Given the description of an element on the screen output the (x, y) to click on. 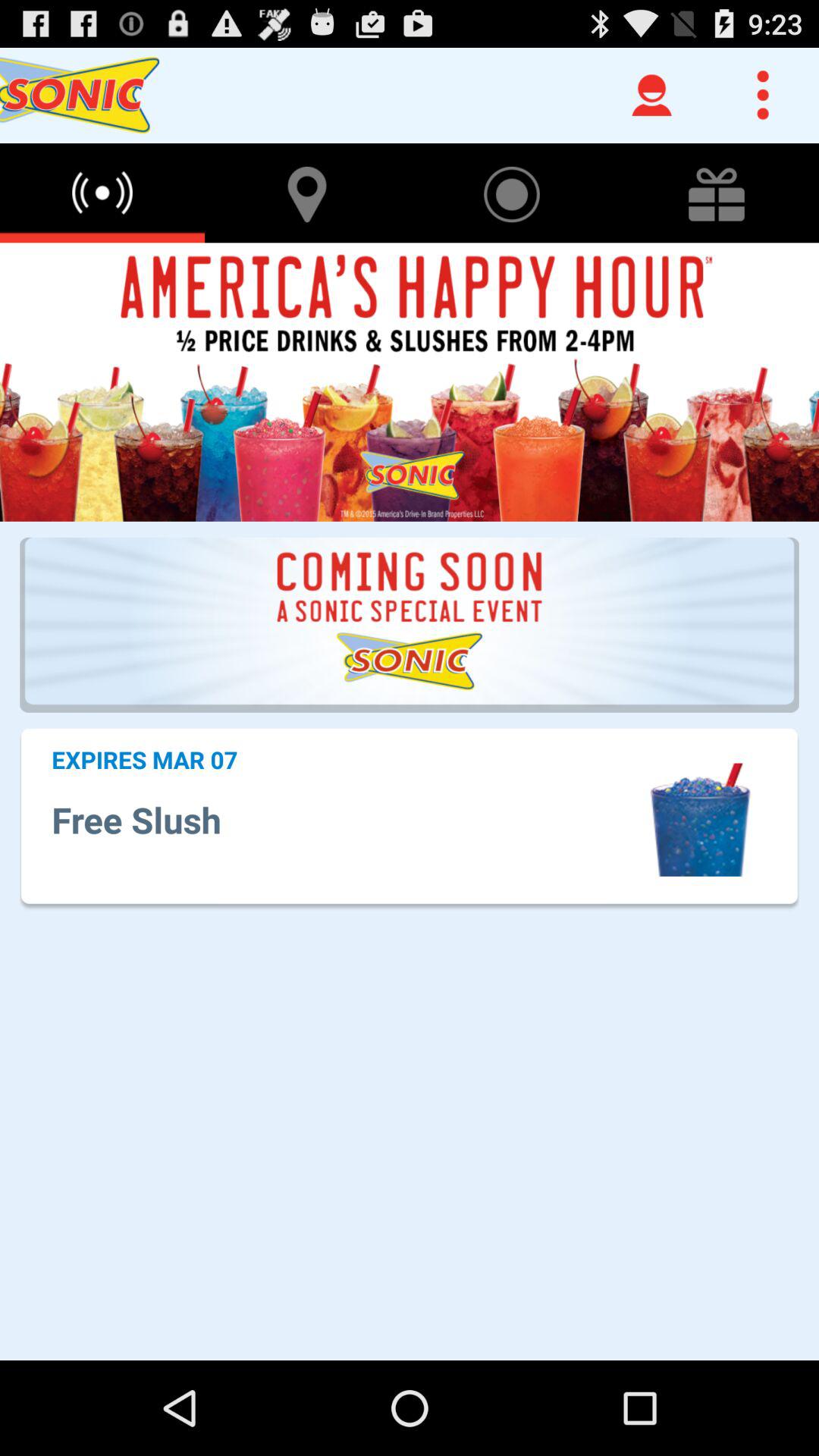
tap free slush app (346, 819)
